Given the description of an element on the screen output the (x, y) to click on. 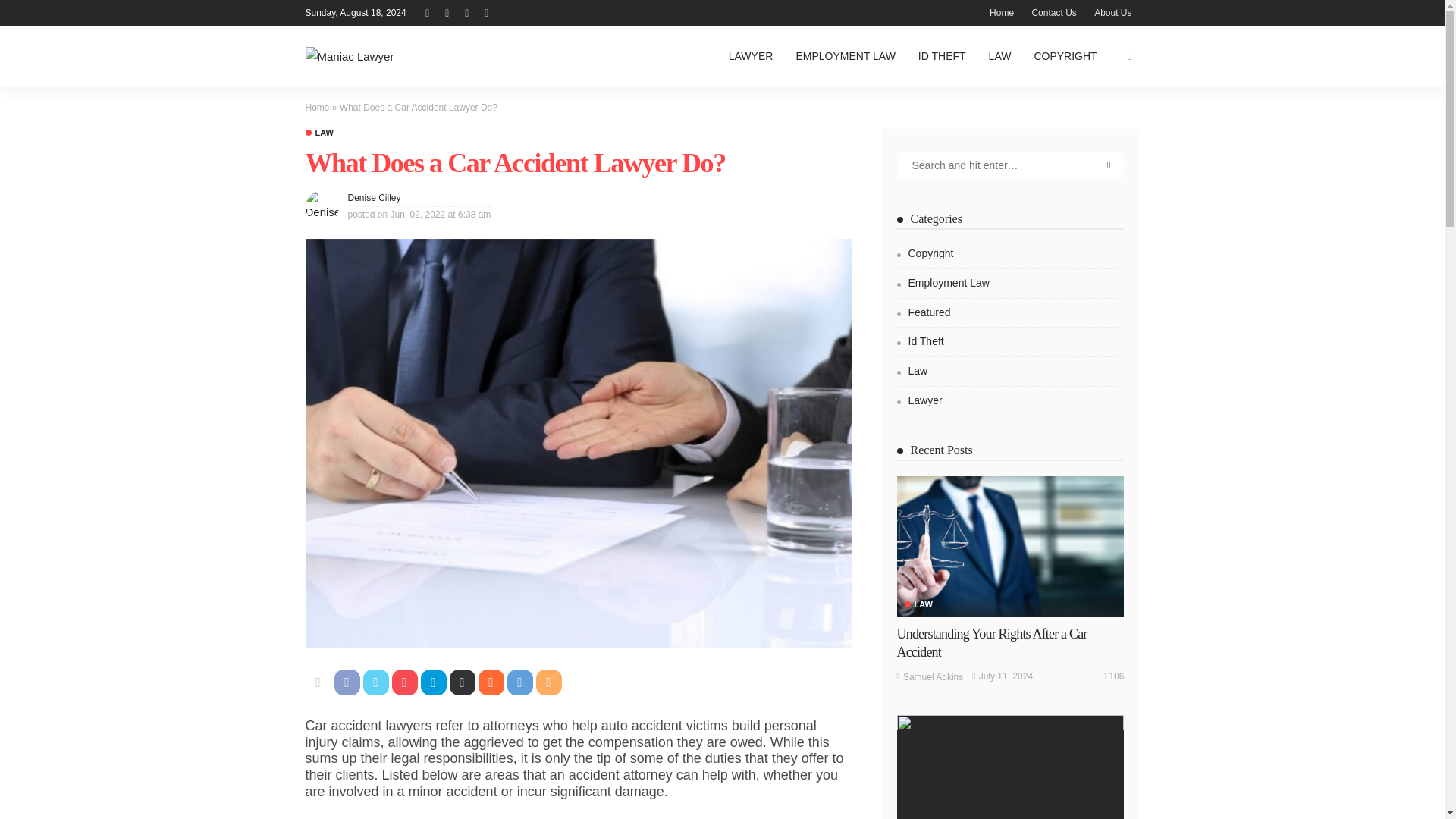
EMPLOYMENT LAW (844, 55)
Maniac Lawyer (348, 55)
LAWYER (750, 55)
Denise Cilley (373, 197)
LAW (318, 132)
About Us (1112, 12)
Contact Us (1053, 12)
Home (1001, 12)
Law (318, 132)
Home (316, 107)
